Given the description of an element on the screen output the (x, y) to click on. 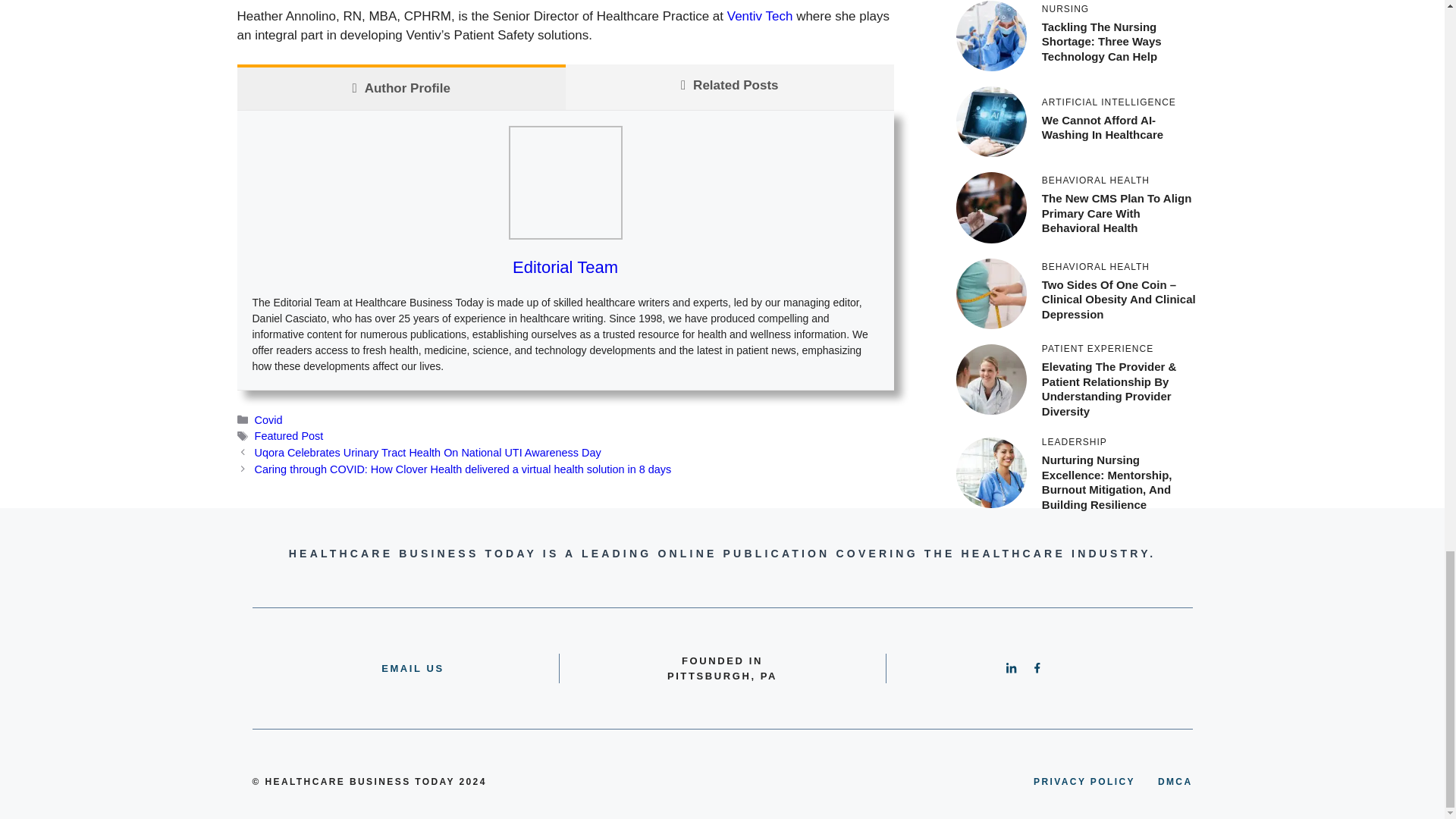
Featured Post (288, 435)
Covid (268, 419)
Ventiv Tech (759, 16)
Editorial Team (564, 266)
